Given the description of an element on the screen output the (x, y) to click on. 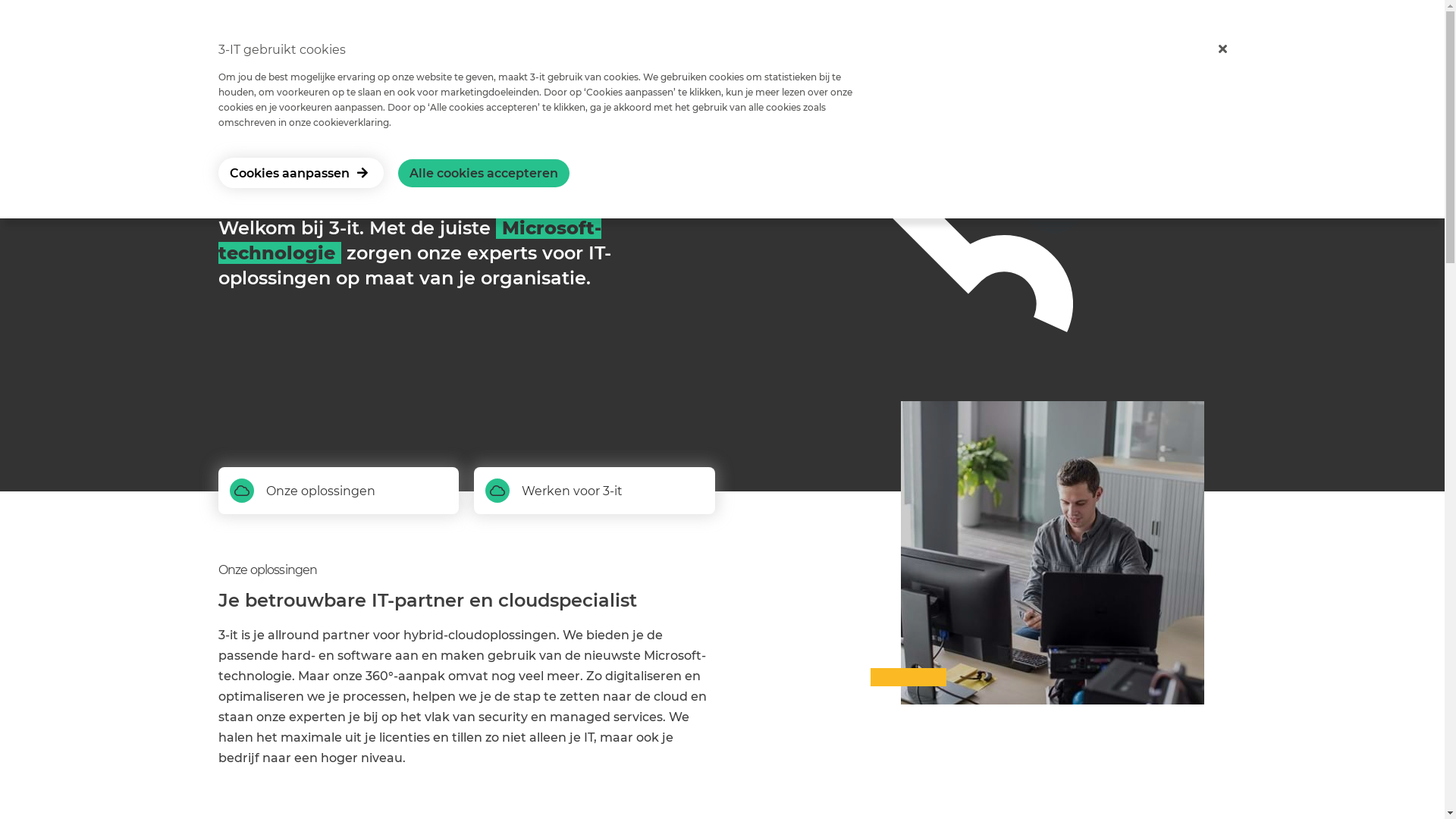
Get support Element type: text (1107, 49)
Werken voor 3-it Element type: text (571, 490)
Cookies aanpassen Element type: text (300, 172)
Ga naar de homepage Element type: hover (237, 55)
Alle cookies accepteren Element type: text (482, 173)
Onze oplossingen Element type: text (319, 490)
Jobs Element type: text (556, 53)
Home Element type: text (307, 53)
Oplossingen Element type: text (395, 53)
Nieuws Element type: text (488, 53)
Contact Element type: text (991, 53)
